Given the description of an element on the screen output the (x, y) to click on. 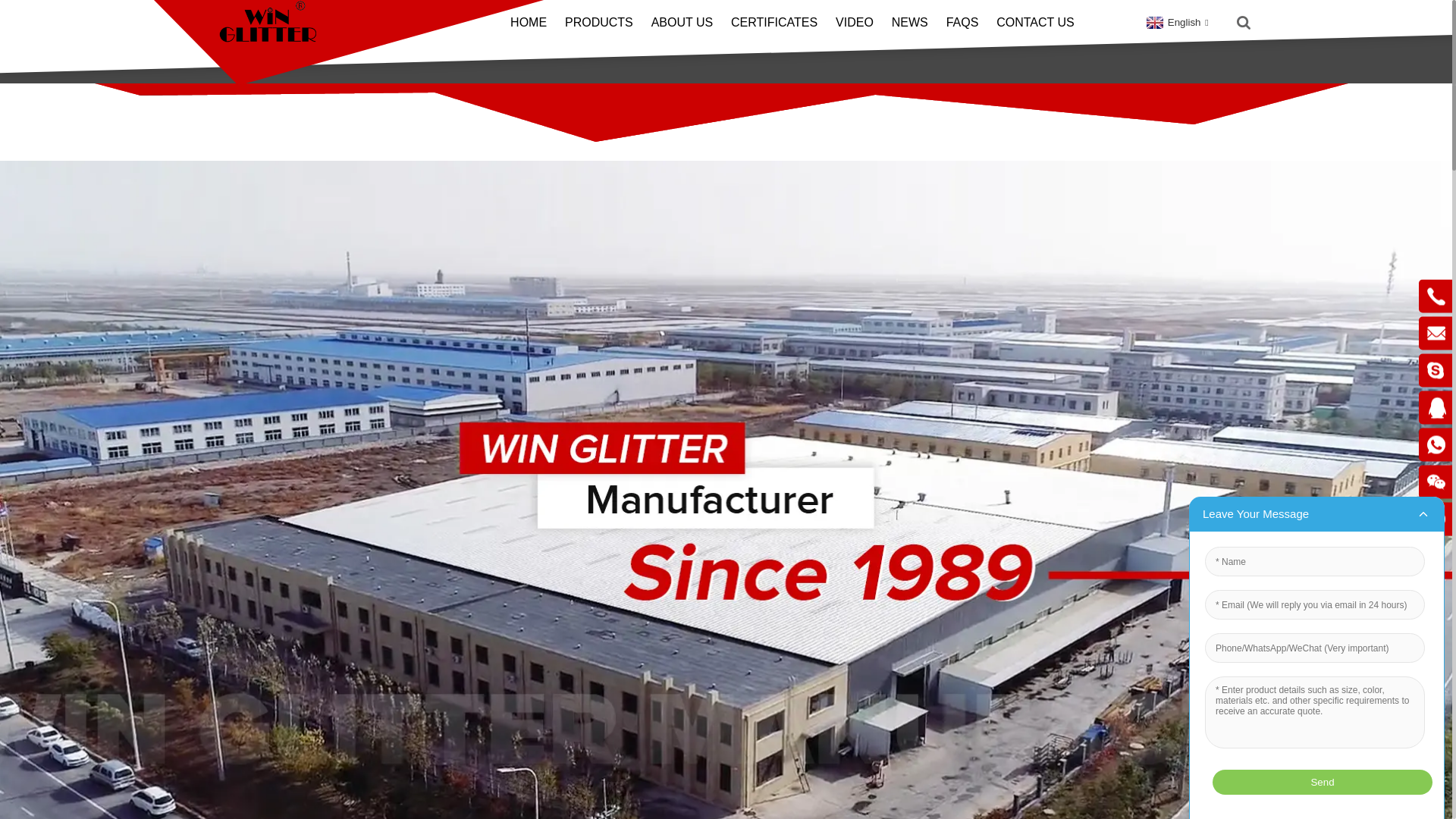
CONTACT US (1034, 22)
CERTIFICATES (773, 22)
PRODUCTS (598, 22)
English (1175, 21)
ABOUT US (681, 22)
